Given the description of an element on the screen output the (x, y) to click on. 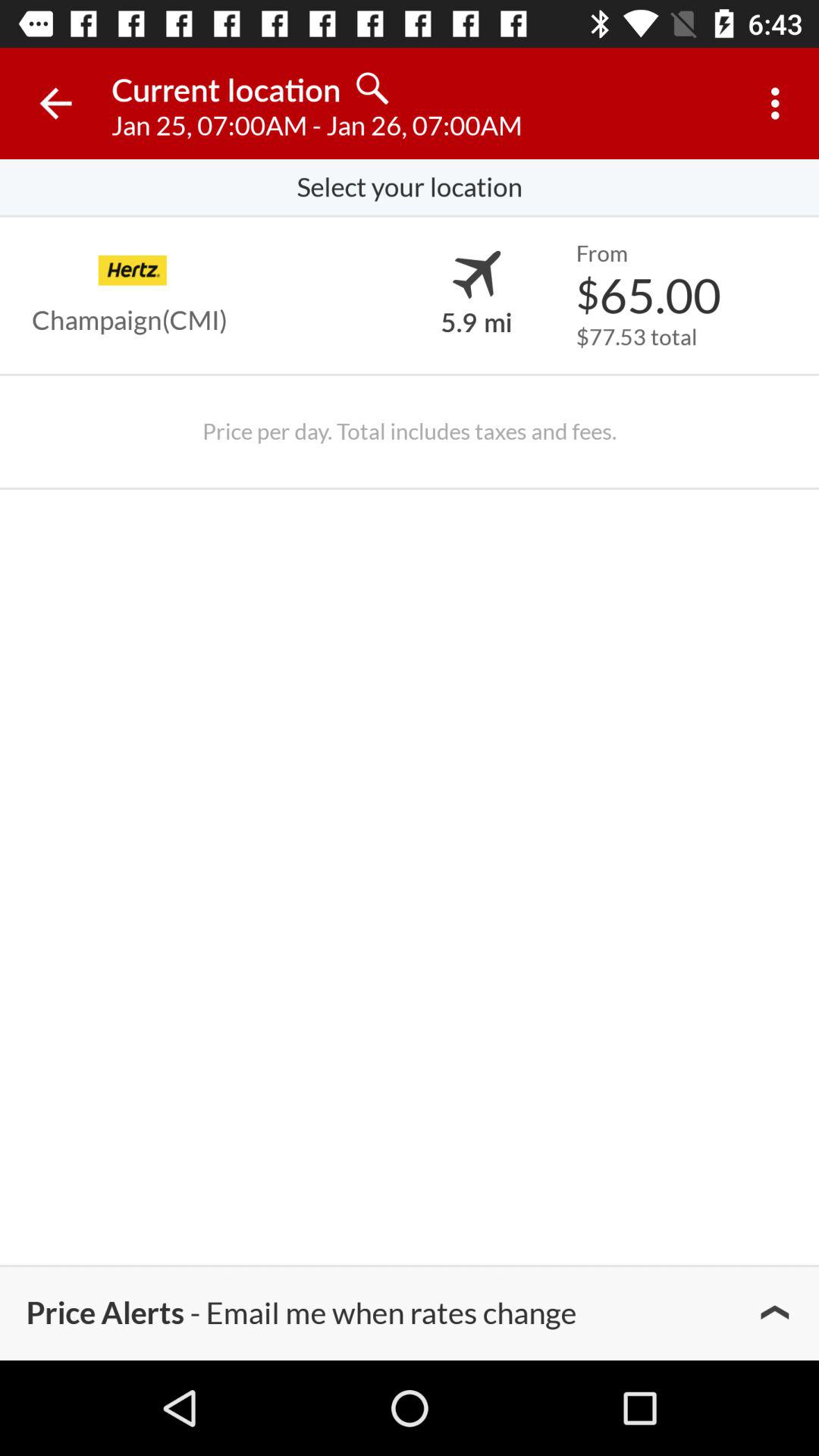
tap $65.00 icon (648, 294)
